Given the description of an element on the screen output the (x, y) to click on. 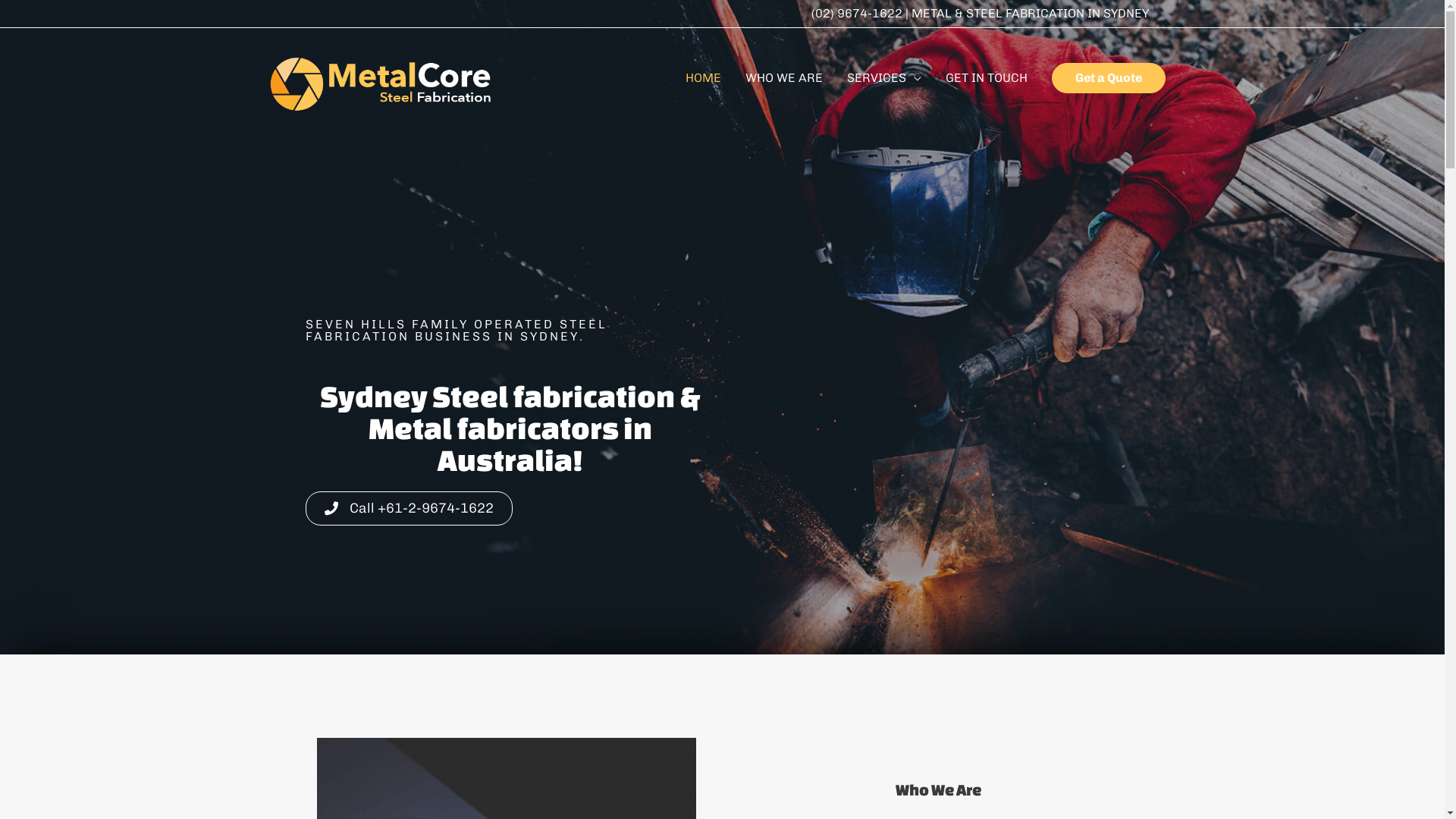
Get a Quote Element type: text (1107, 77)
HOME Element type: text (703, 77)
(02) 9674-1622 Element type: text (858, 13)
Call +61-2-9674-1622 Element type: text (407, 508)
WHO WE ARE Element type: text (783, 77)
Get a Quote Element type: text (1107, 77)
SERVICES Element type: text (883, 77)
GET IN TOUCH Element type: text (985, 77)
